Given the description of an element on the screen output the (x, y) to click on. 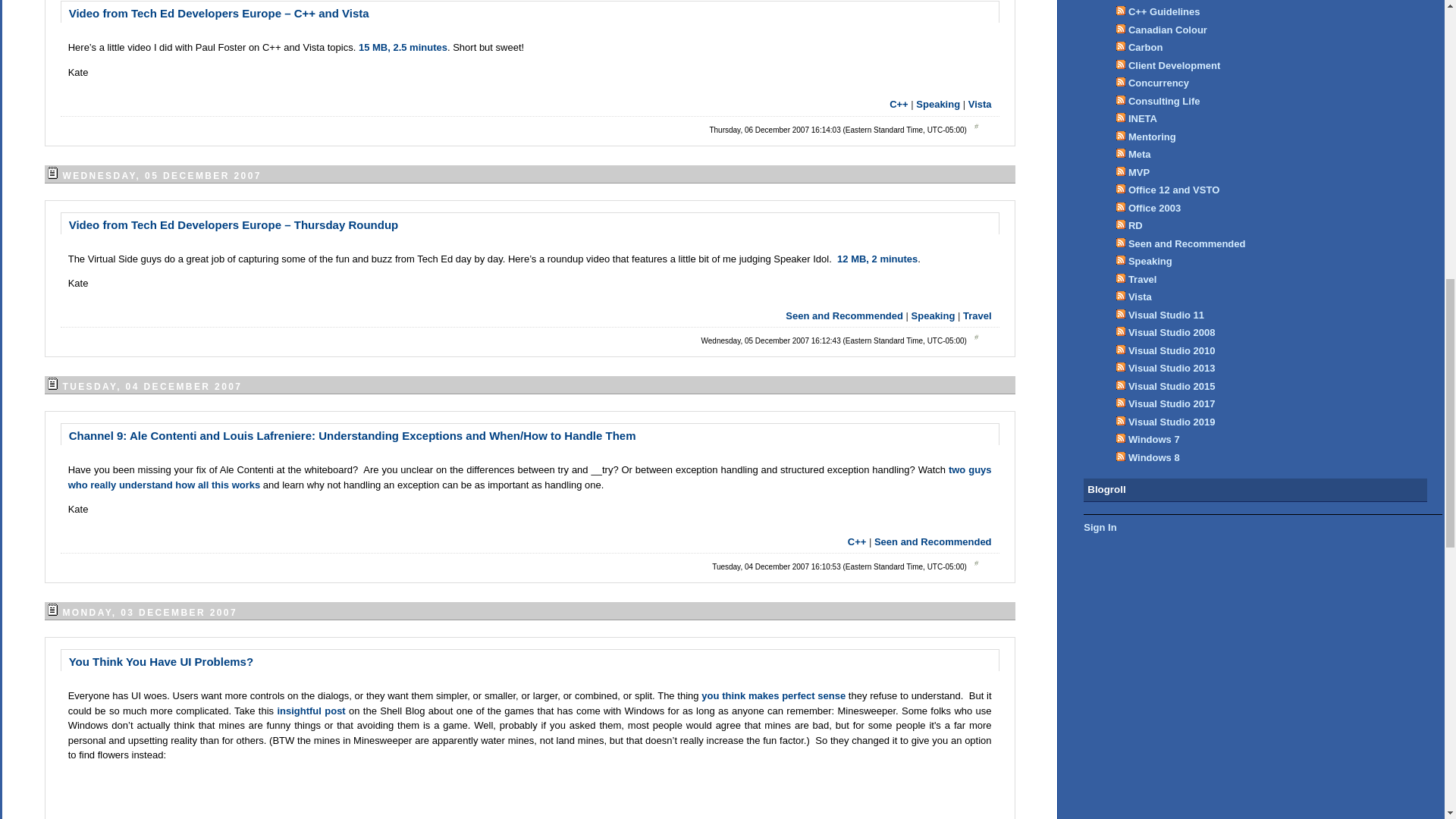
12 MB, 2 minutes (877, 258)
Speaking (937, 103)
15 MB, 2.5 minutes (402, 47)
Vista (979, 103)
